Given the description of an element on the screen output the (x, y) to click on. 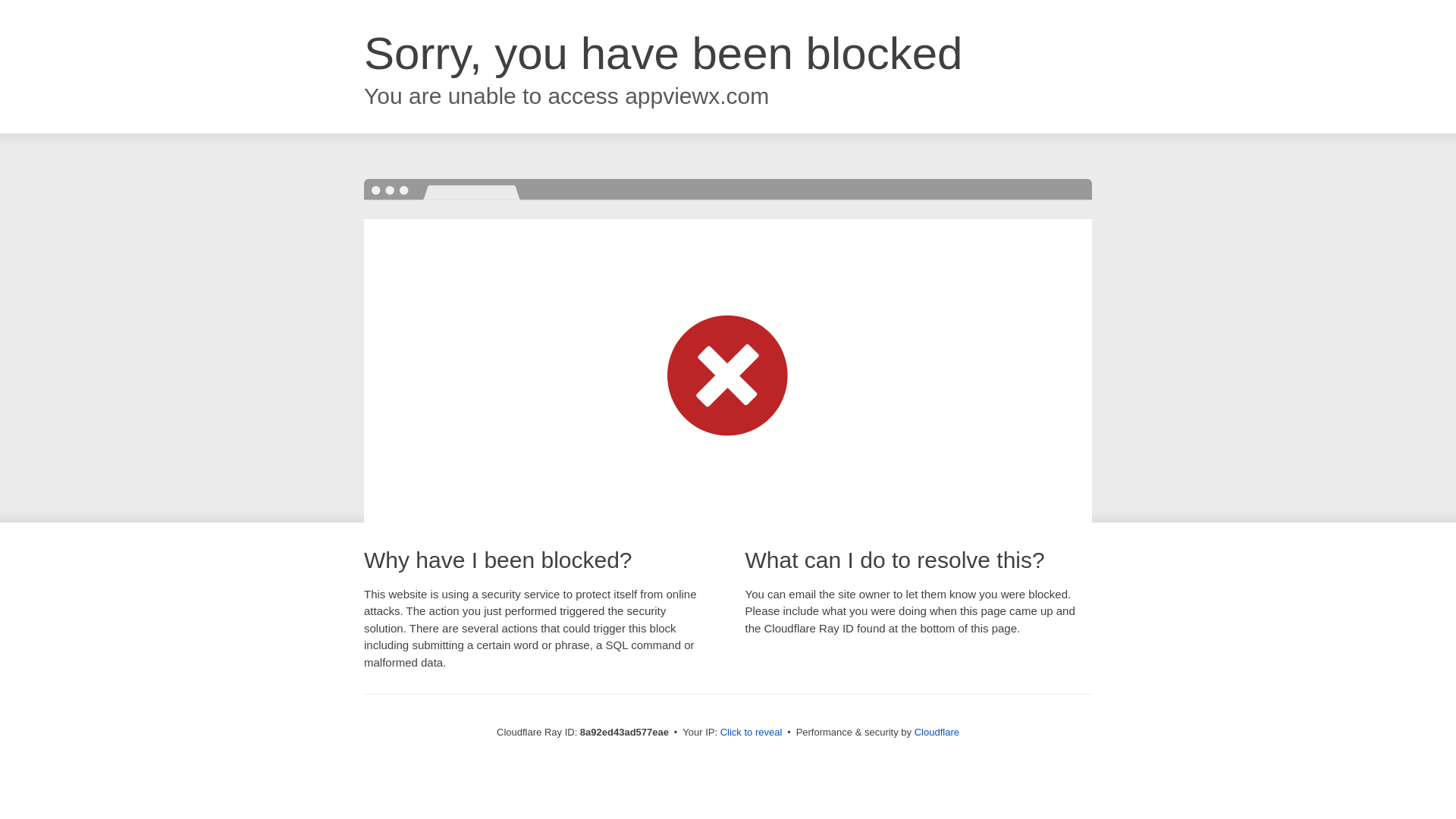
Cloudflare (936, 731)
Click to reveal (751, 732)
